Given the description of an element on the screen output the (x, y) to click on. 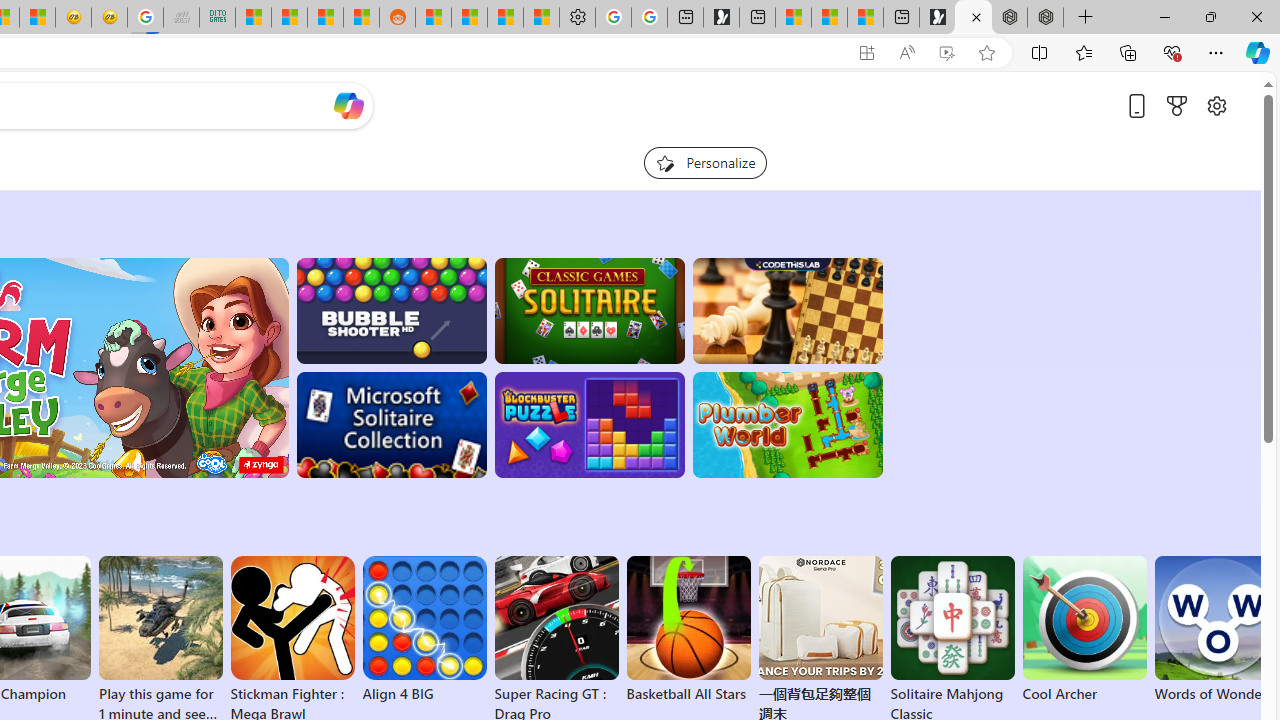
Basketball All Stars (688, 629)
Master Chess (787, 310)
App available. Install Games from Microsoft Start (867, 53)
Classic Solitaire (589, 310)
Plumber World (787, 425)
